Given the description of an element on the screen output the (x, y) to click on. 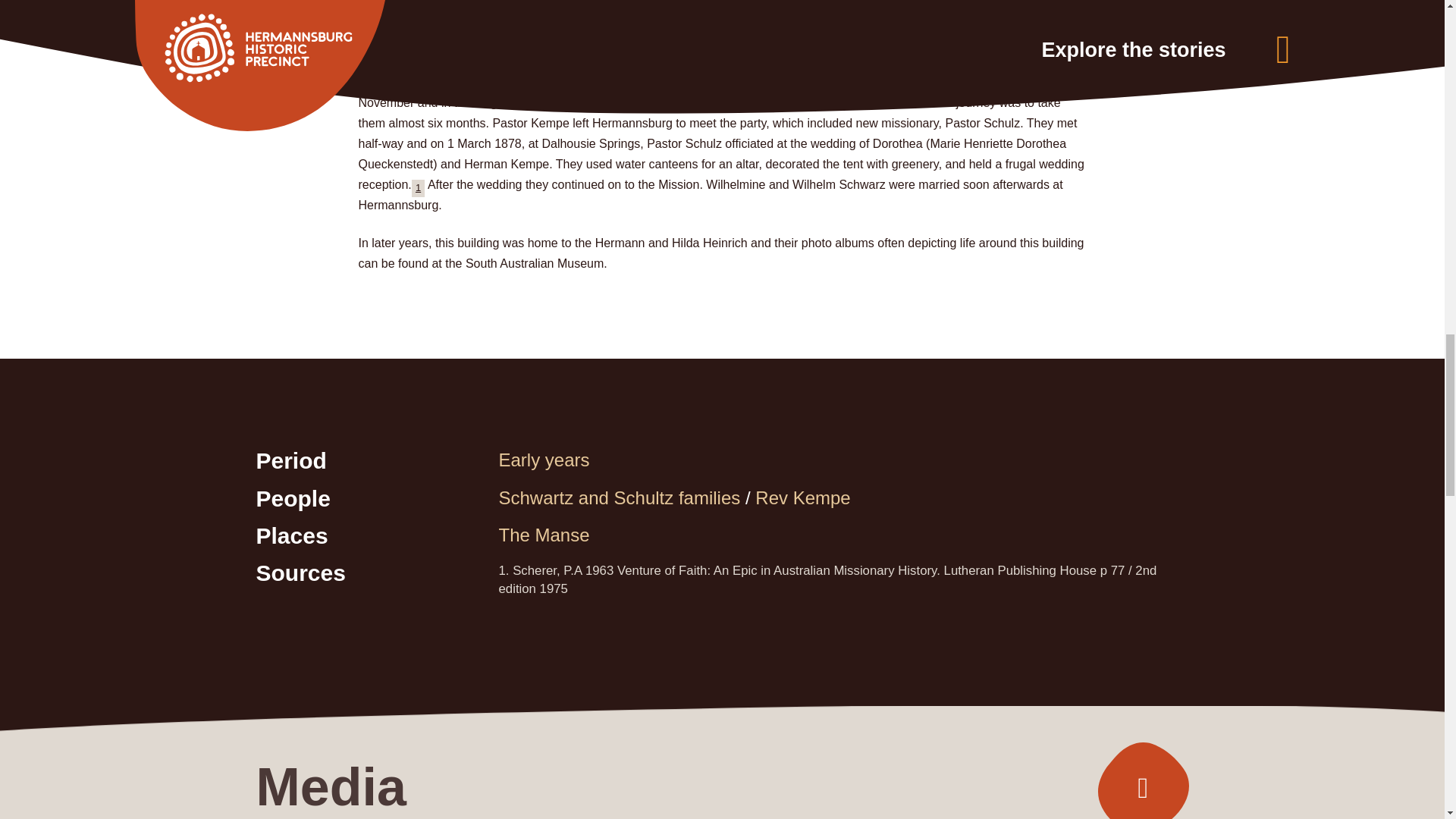
Early years (544, 459)
Schwartz and Schultz families (620, 497)
The Manse (544, 534)
Rev Kempe (802, 497)
